Given the description of an element on the screen output the (x, y) to click on. 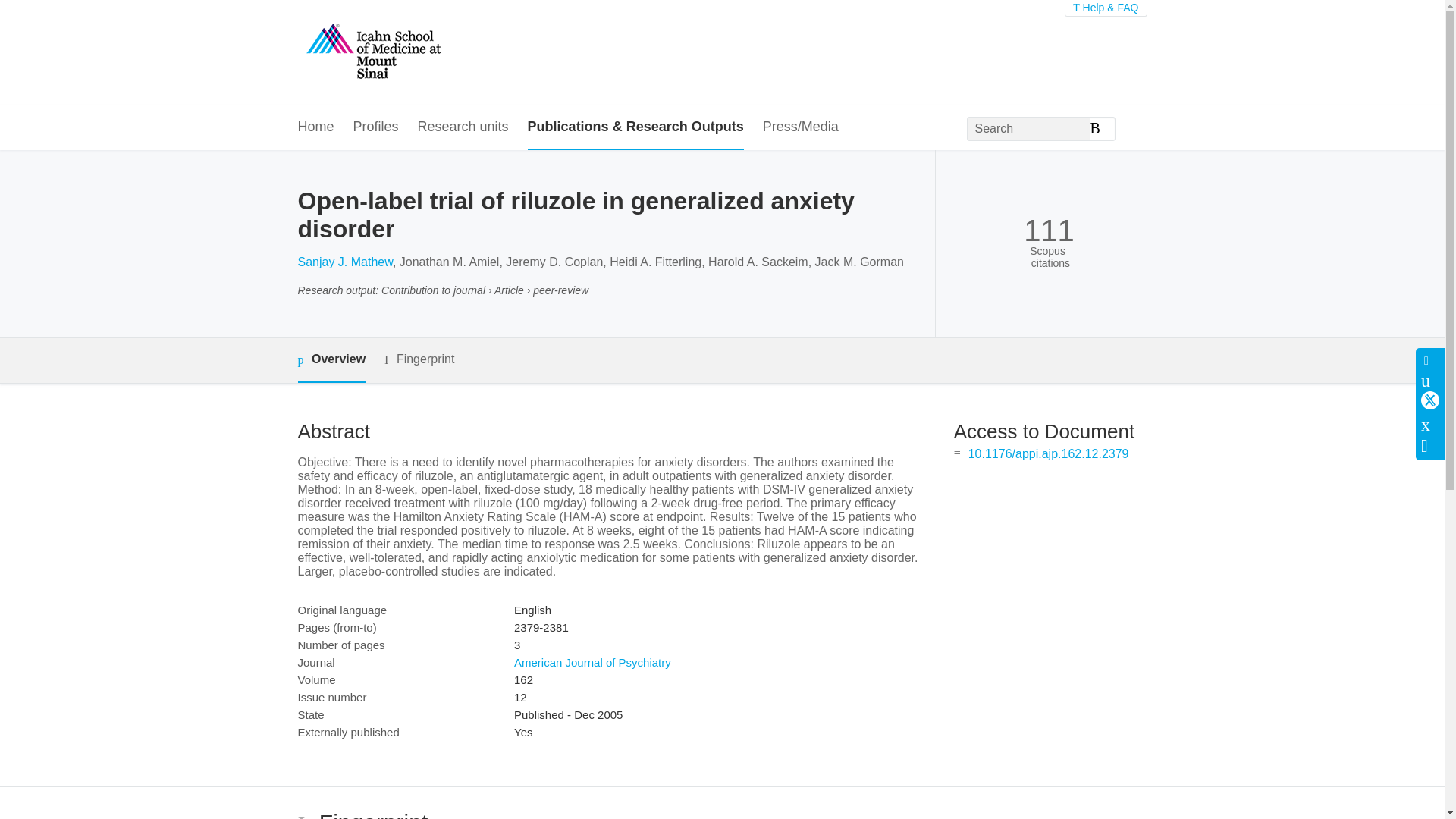
Research units (462, 127)
American Journal of Psychiatry (592, 662)
Overview (331, 360)
Sanjay J. Mathew (344, 261)
Icahn School of Medicine at Mount Sinai Home (372, 52)
Profiles (375, 127)
Fingerprint (419, 359)
